Given the description of an element on the screen output the (x, y) to click on. 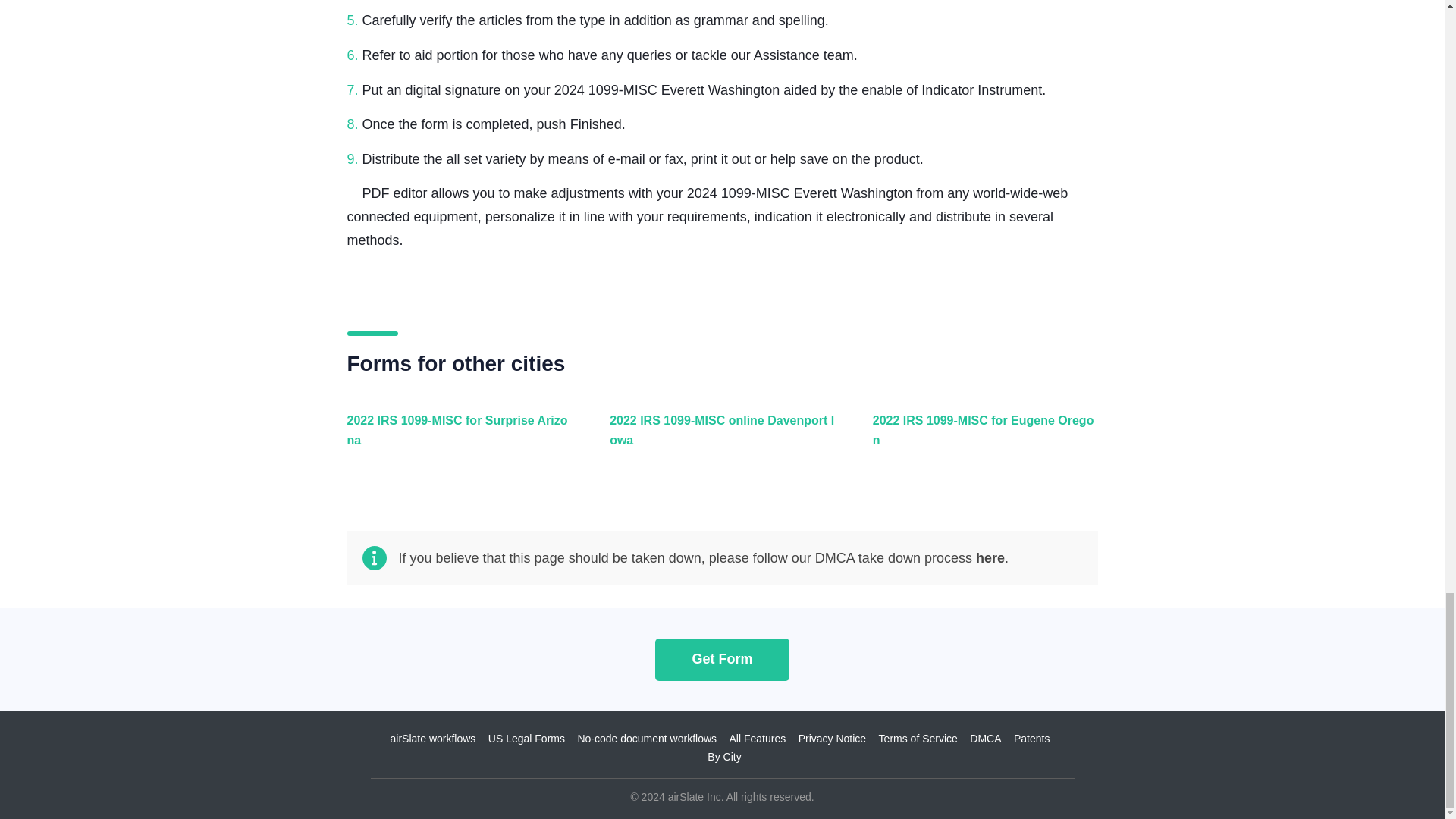
Get Form (722, 658)
Privacy Notice (831, 738)
By City (724, 756)
airSlate workflows (433, 738)
Terms of Service (918, 738)
Patents (1031, 738)
here (989, 557)
2022 IRS 1099-MISC for Surprise Arizona (456, 438)
No-code document workflows (646, 738)
2022 IRS 1099-MISC for Eugene Oregon (981, 438)
2022 IRS 1099-MISC online Davenport Iowa (718, 438)
DMCA (985, 738)
US Legal Forms (525, 738)
All Features (757, 738)
